Given the description of an element on the screen output the (x, y) to click on. 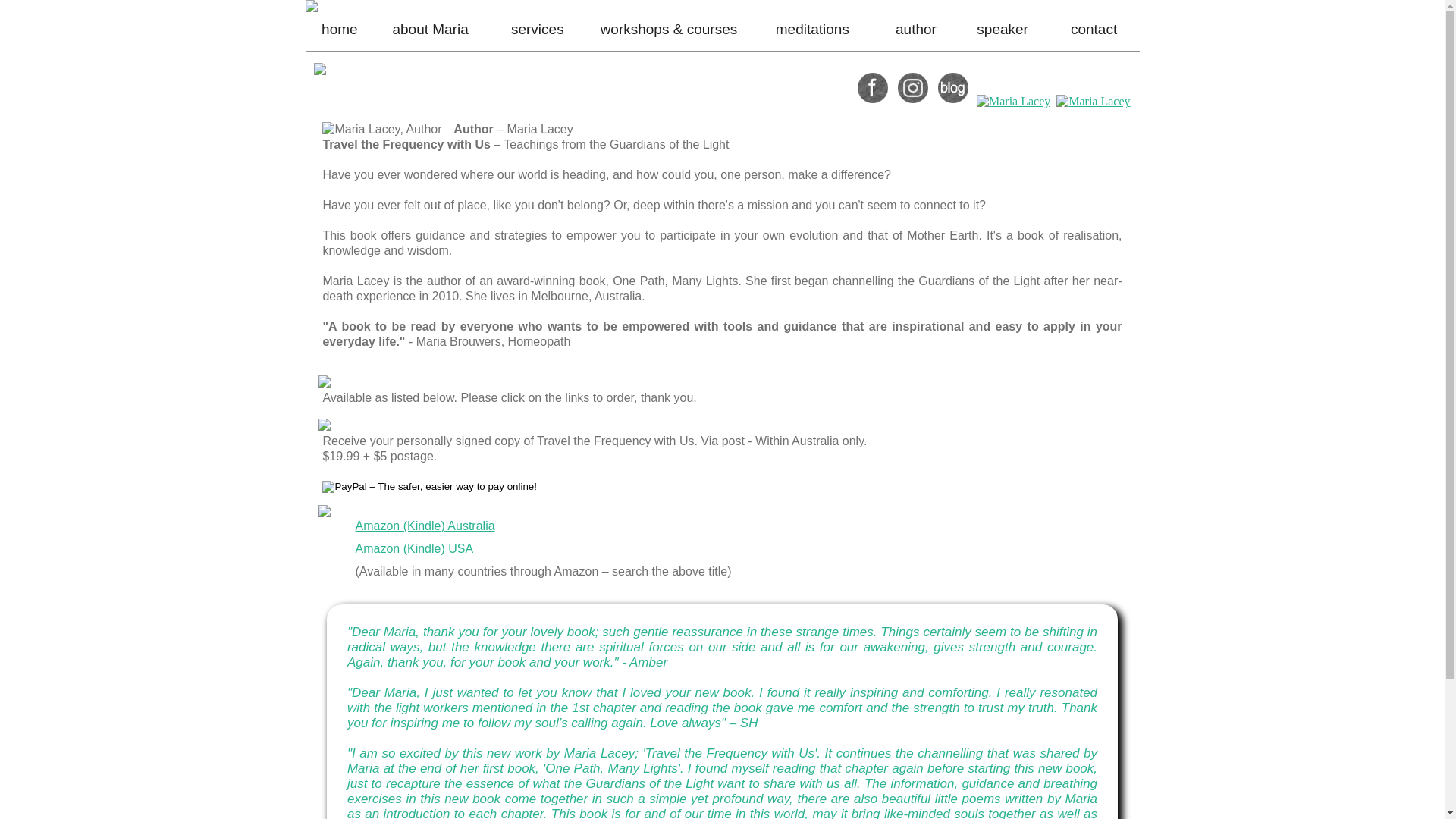
contact Element type: text (1093, 29)
Amazon (Kindle) Australia Element type: text (424, 525)
author Element type: text (915, 29)
services Element type: text (537, 29)
meditations Element type: text (812, 29)
speaker Element type: text (1002, 29)
Amazon (Kindle) USA Element type: text (413, 548)
about Maria Element type: text (429, 29)
home Element type: text (339, 29)
workshops & courses Element type: text (668, 29)
